Given the description of an element on the screen output the (x, y) to click on. 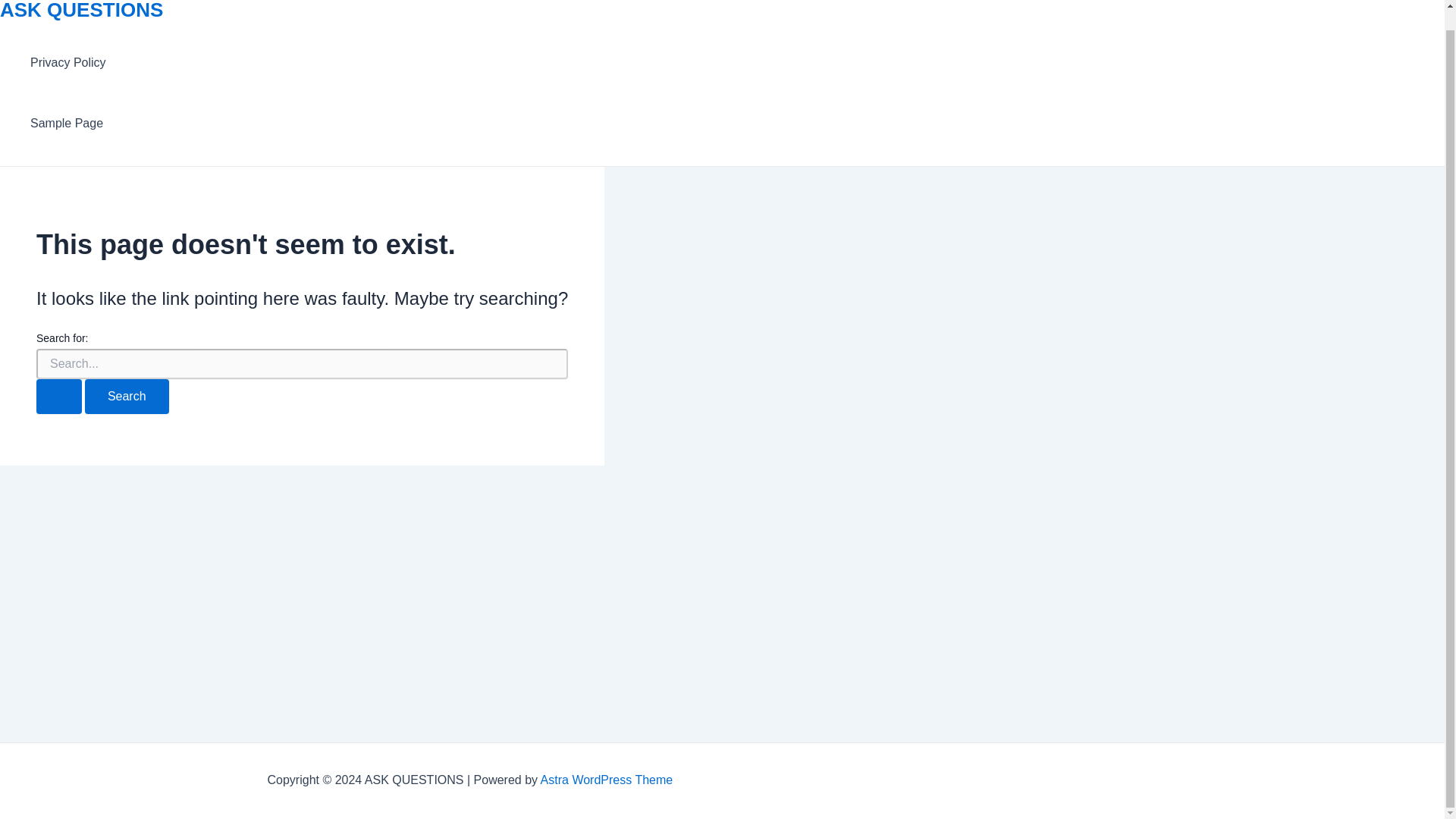
ASK QUESTIONS (81, 10)
Search (126, 396)
Search (126, 396)
Search (126, 396)
Sample Page (68, 123)
Privacy Policy (68, 62)
Astra WordPress Theme (606, 779)
